Given the description of an element on the screen output the (x, y) to click on. 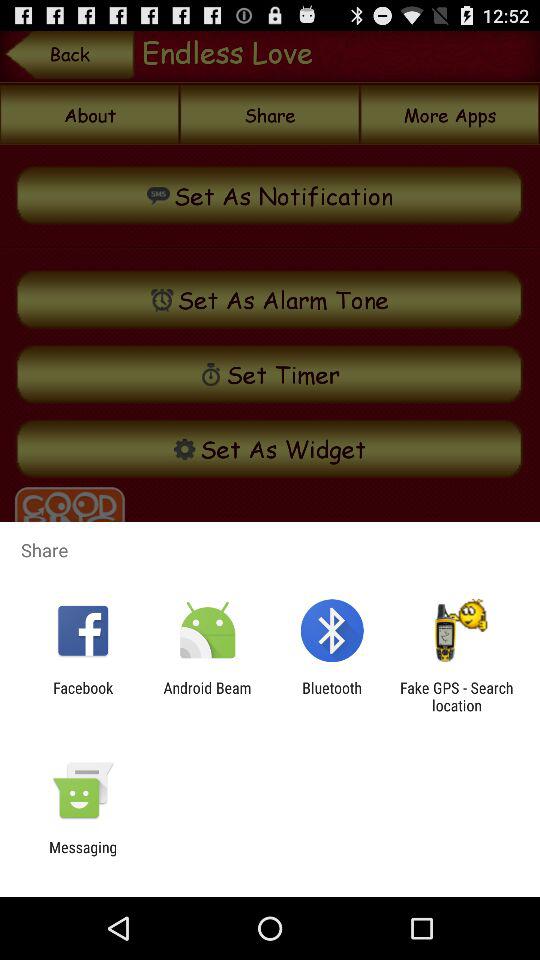
tap icon next to the fake gps search app (331, 696)
